Given the description of an element on the screen output the (x, y) to click on. 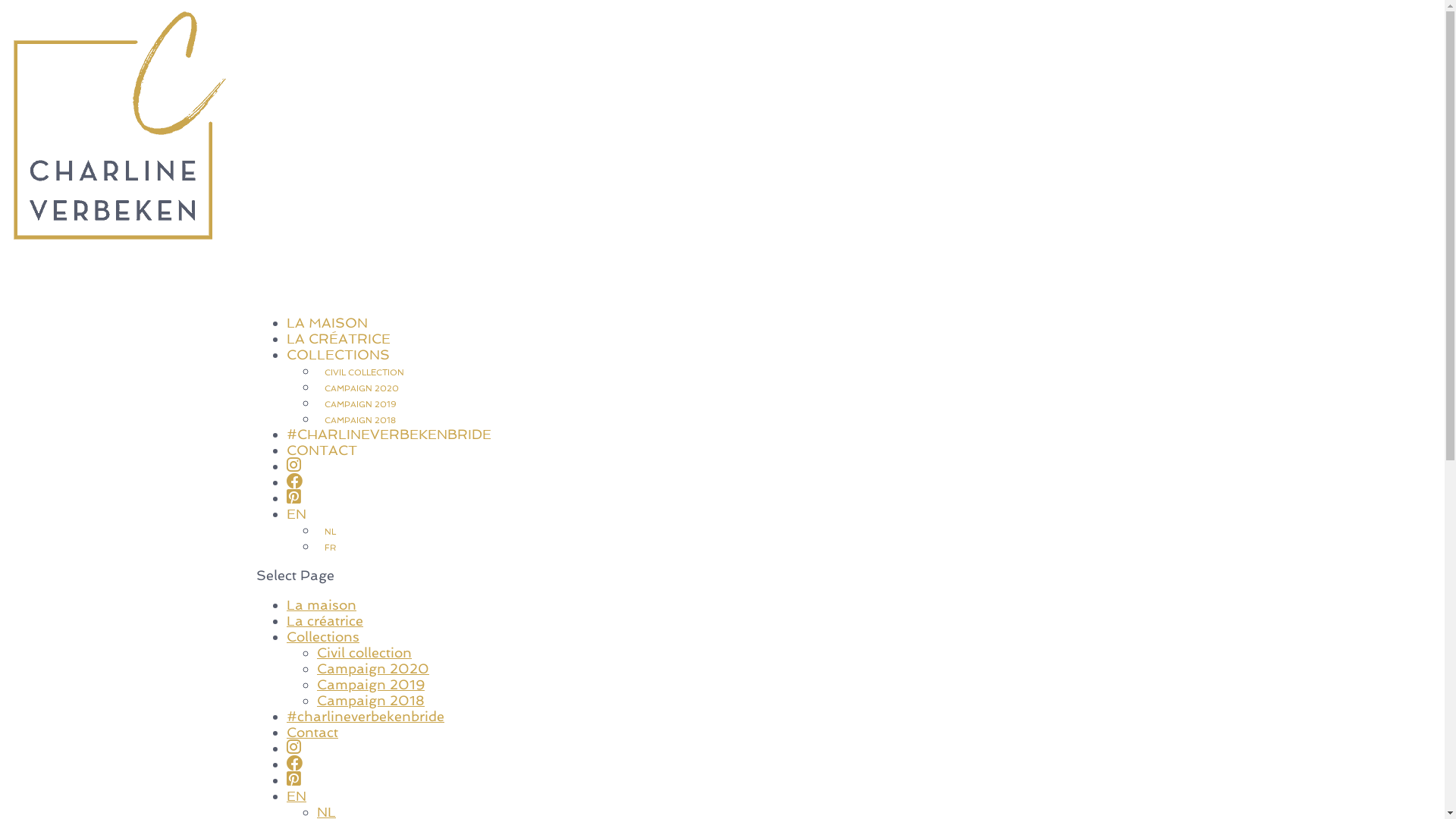
NL Element type: text (329, 531)
FR Element type: text (329, 547)
CIVIL COLLECTION Element type: text (363, 372)
EN Element type: text (296, 795)
#CHARLINEVERBEKENBRIDE Element type: text (388, 460)
Contact Element type: text (312, 732)
Campaign 2020 Element type: text (372, 668)
Collections Element type: text (322, 636)
Civil collection Element type: text (363, 652)
LA MAISON Element type: text (326, 348)
COLLECTIONS Element type: text (337, 380)
Campaign 2018 Element type: text (370, 700)
CAMPAIGN 2018 Element type: text (359, 420)
CONTACT Element type: text (321, 476)
#charlineverbekenbride Element type: text (365, 716)
CAMPAIGN 2020 Element type: text (361, 388)
La maison Element type: text (321, 604)
Campaign 2019 Element type: text (370, 684)
CAMPAIGN 2019 Element type: text (360, 404)
EN Element type: text (296, 539)
